Given the description of an element on the screen output the (x, y) to click on. 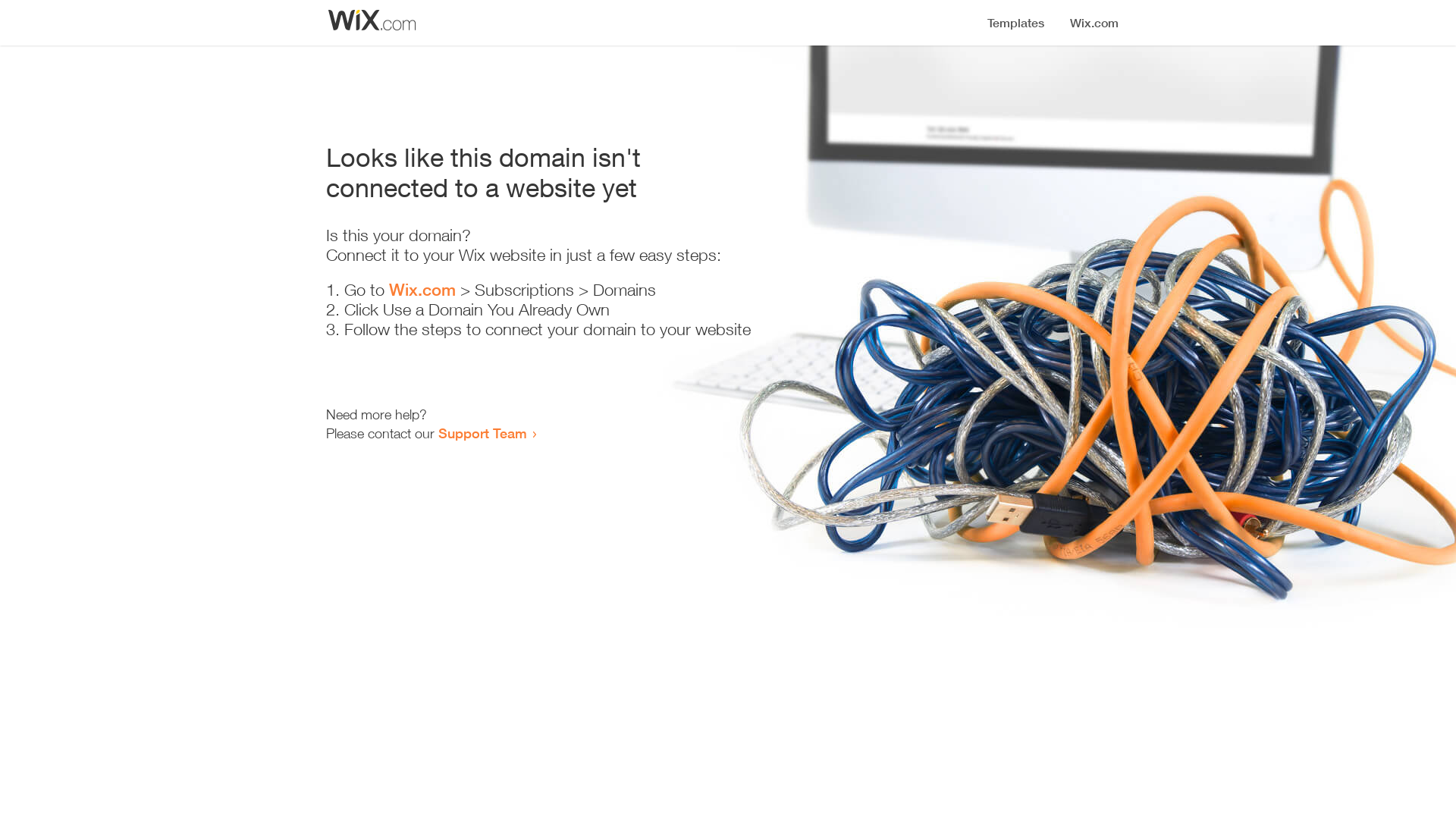
Wix.com Element type: text (422, 289)
Support Team Element type: text (482, 432)
